Given the description of an element on the screen output the (x, y) to click on. 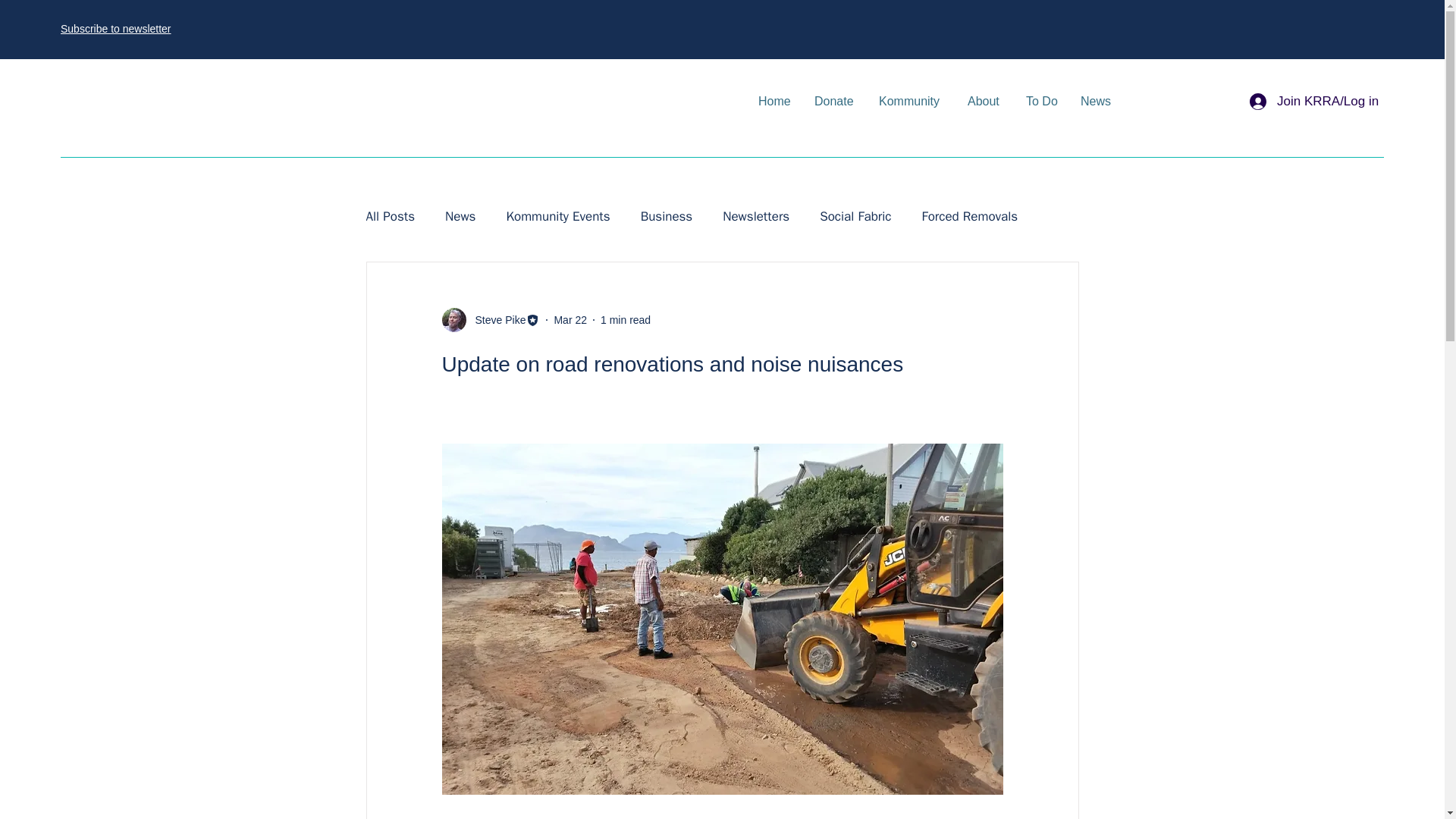
News (460, 216)
Subscribe to newsletter (116, 28)
News (1096, 101)
Steve Pike (495, 320)
Newsletters (755, 216)
Mar 22 (569, 319)
Home (774, 101)
Steve Pike (490, 319)
Donate (835, 101)
1 min read (624, 319)
